Given the description of an element on the screen output the (x, y) to click on. 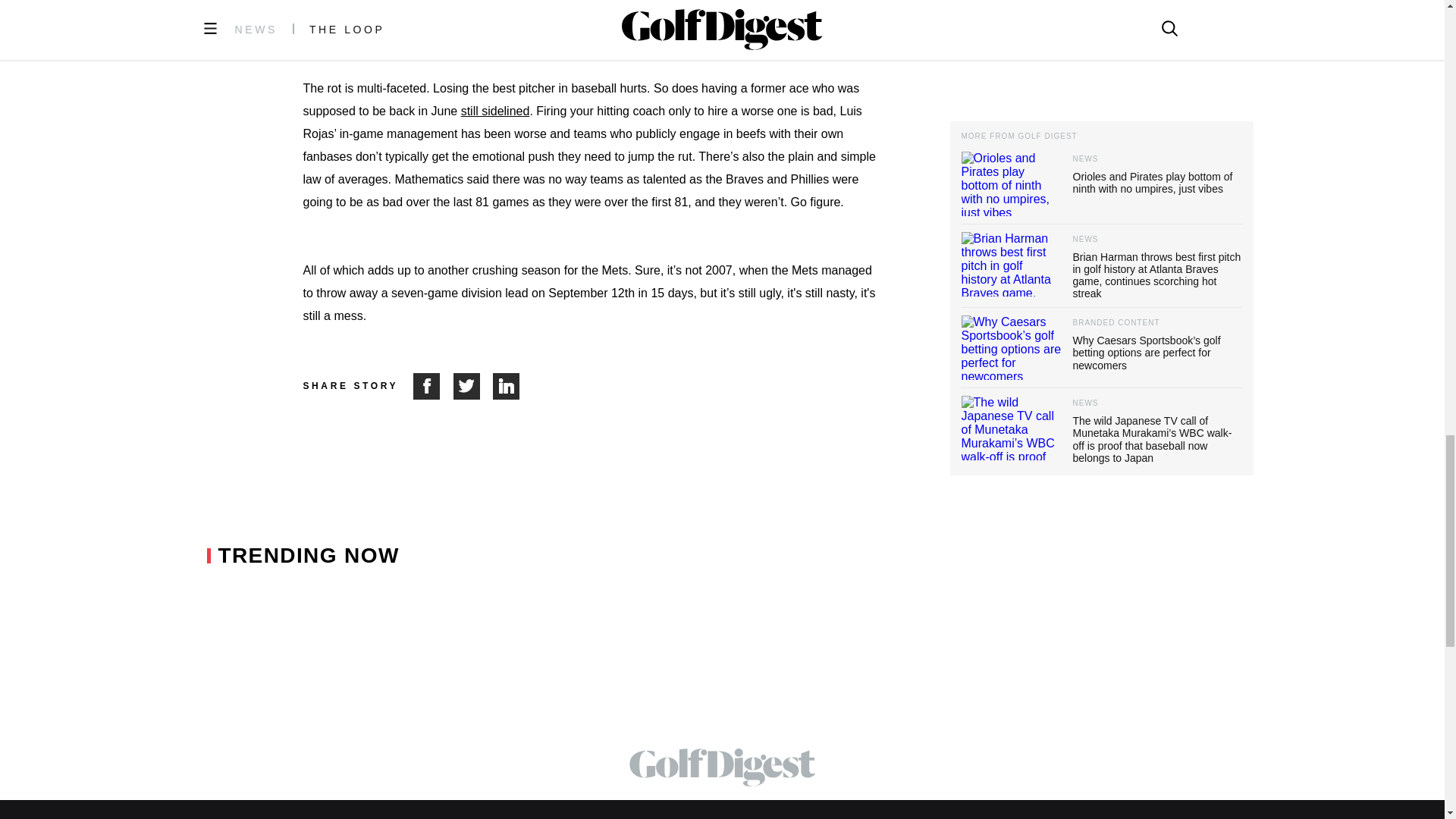
Share on Facebook (432, 386)
Share on Twitter (472, 386)
Share on LinkedIn (506, 386)
